Given the description of an element on the screen output the (x, y) to click on. 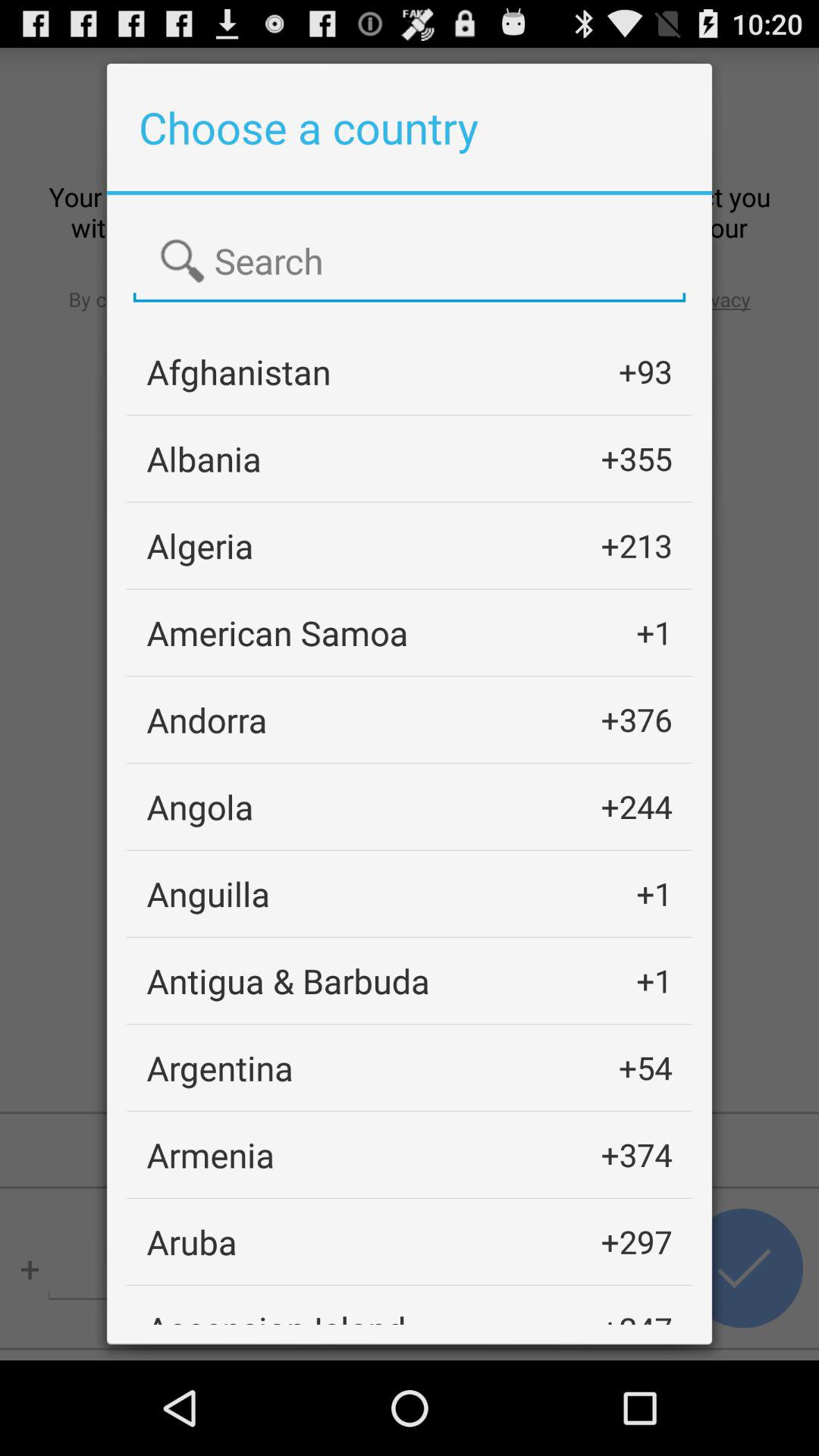
jump until angola icon (199, 806)
